Given the description of an element on the screen output the (x, y) to click on. 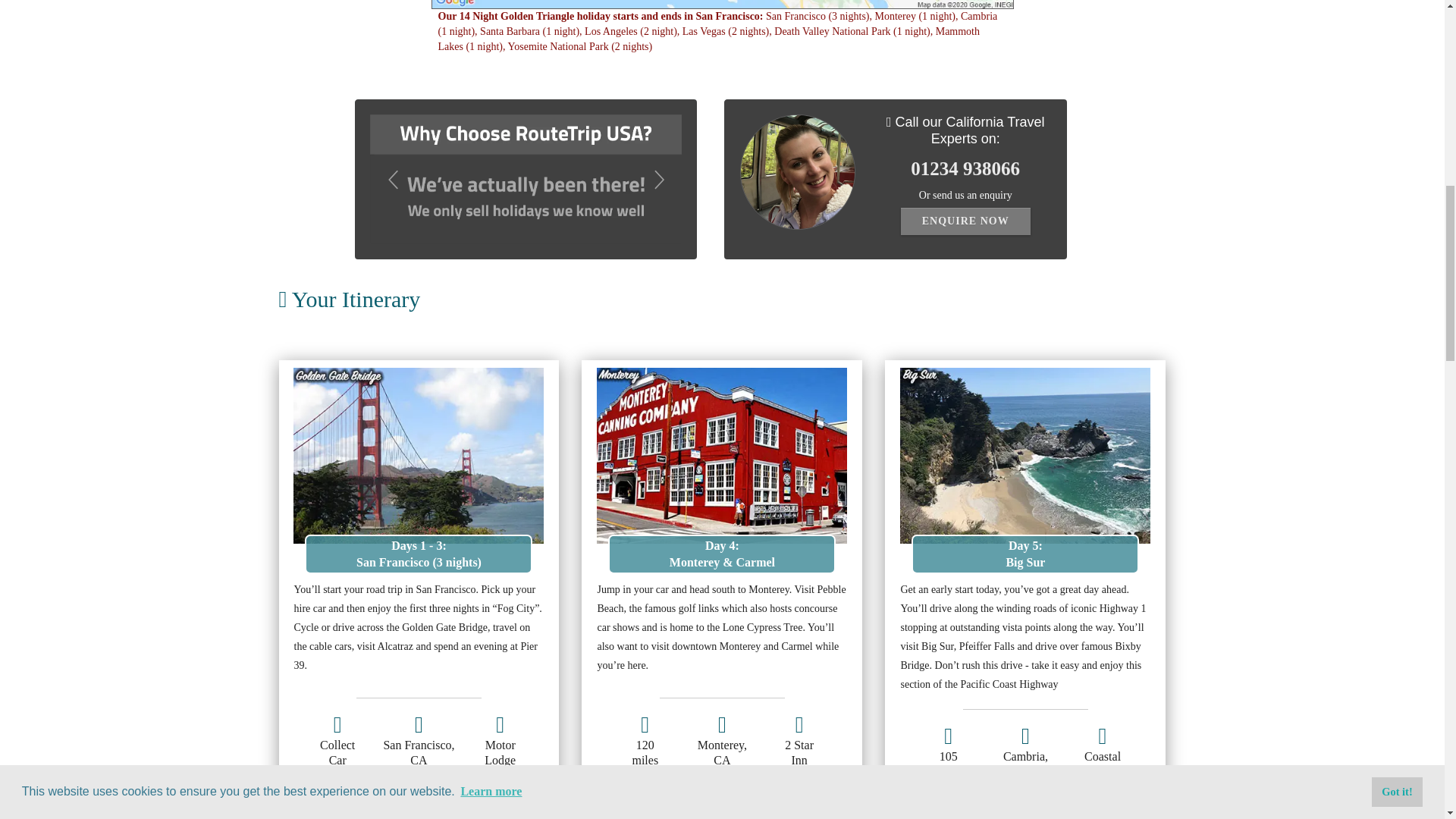
01234 938066 (965, 168)
ENQUIRE NOW (965, 221)
